Given the description of an element on the screen output the (x, y) to click on. 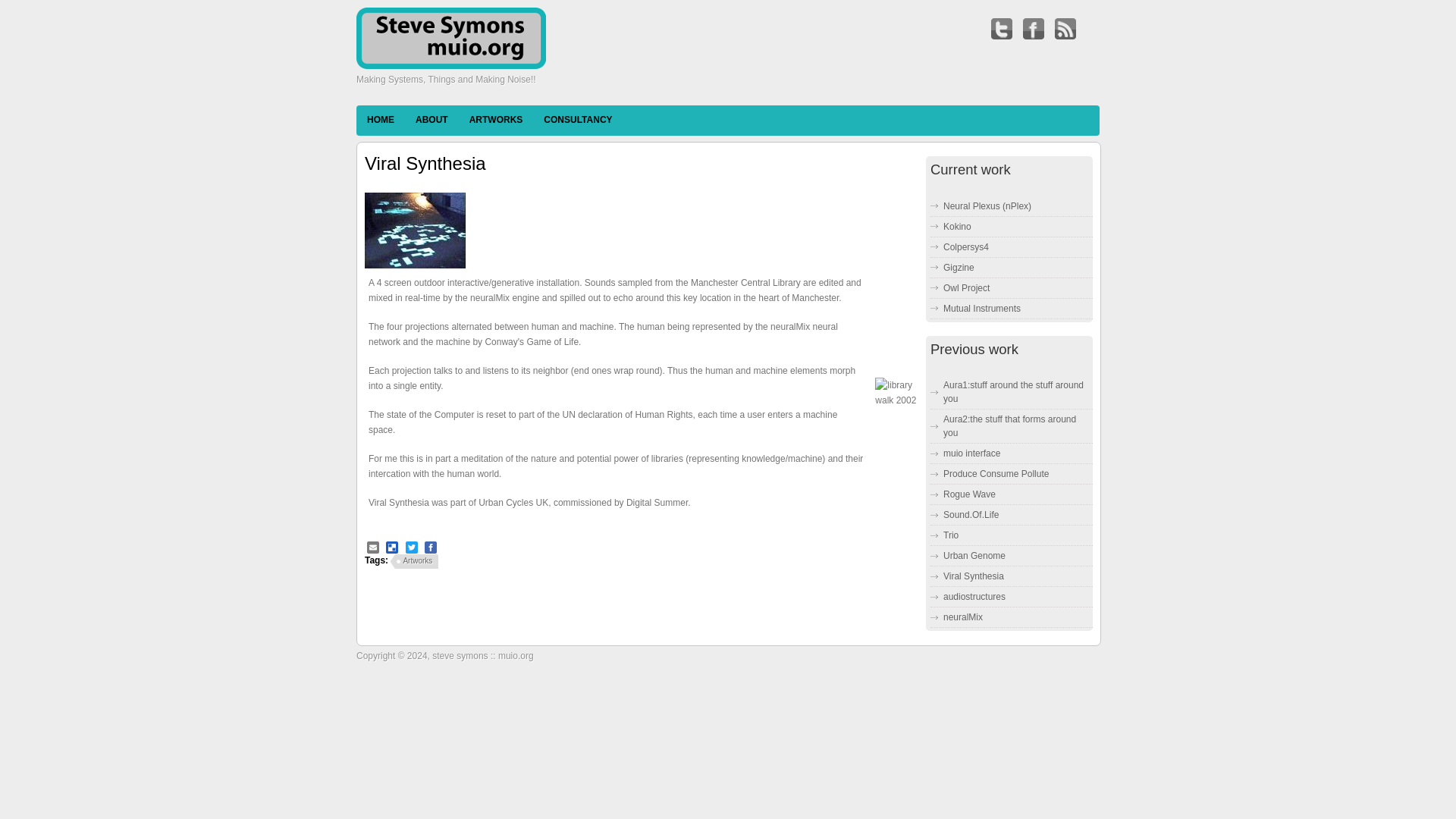
ABOUT (431, 119)
Artworks (414, 562)
ARTWORKS (496, 119)
Home (451, 65)
CONSULTANCY (577, 119)
HOME (380, 119)
